Given the description of an element on the screen output the (x, y) to click on. 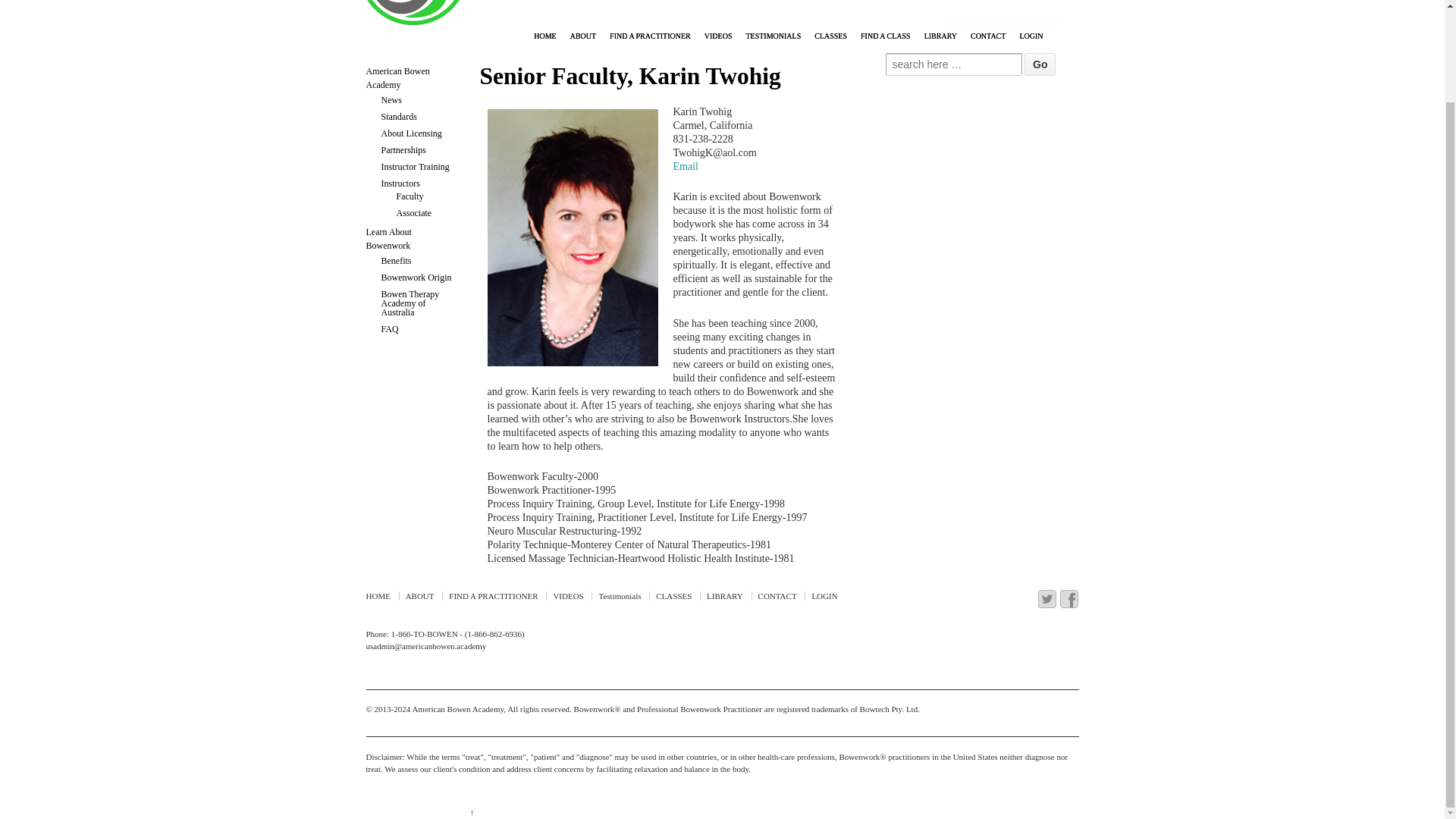
Go (1040, 64)
LIBRARY (940, 37)
VIDEOS (718, 37)
FIND A CLASS (885, 37)
TESTIMONIALS (773, 37)
CONTACT (987, 37)
American Bowen Academy (456, 708)
HOME (544, 37)
ABOUT (582, 37)
FIND A PRACTITIONER (649, 37)
CLASSES (830, 37)
